Given the description of an element on the screen output the (x, y) to click on. 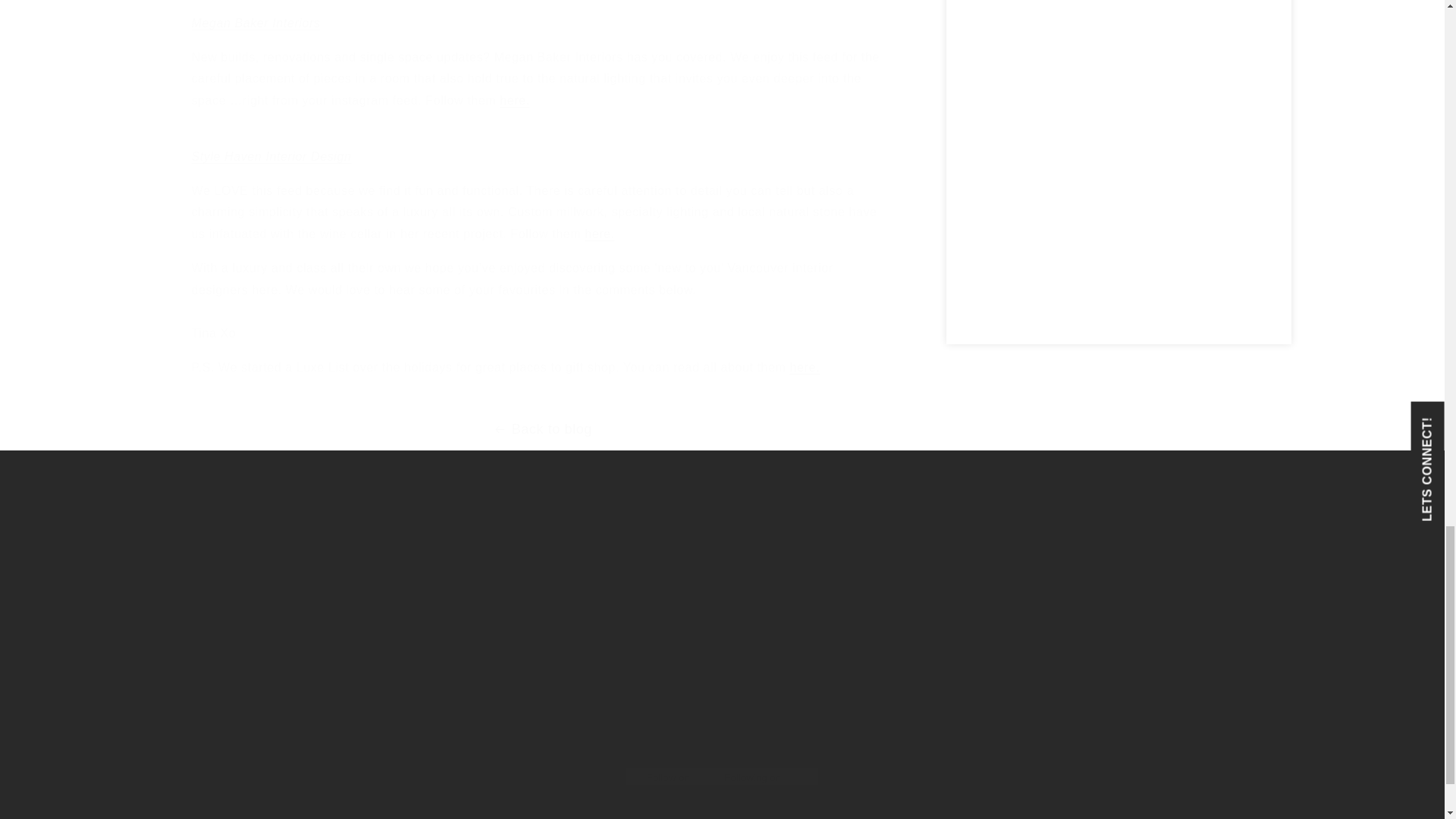
Back to blog (541, 428)
